Given the description of an element on the screen output the (x, y) to click on. 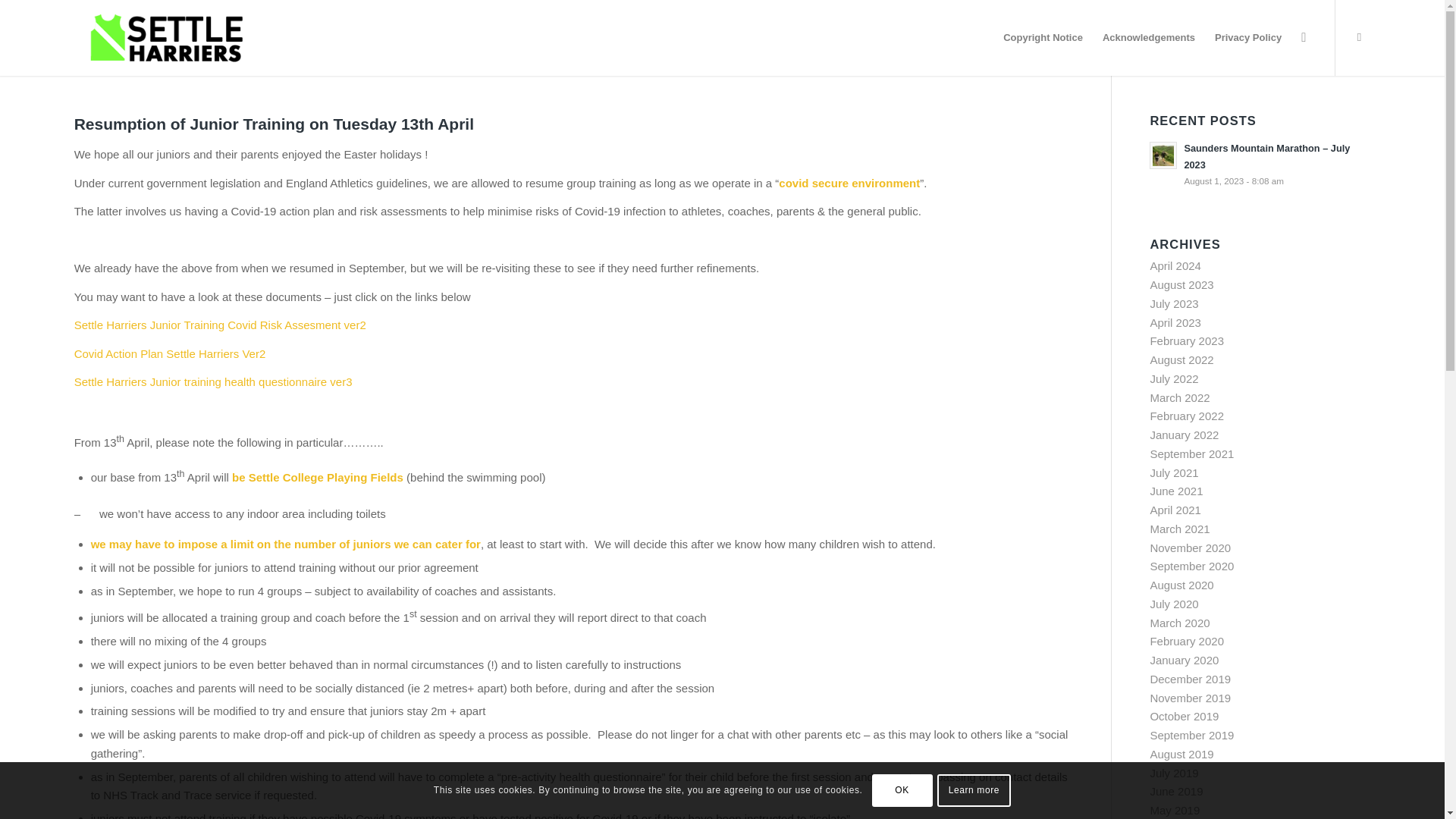
July 2021 (1174, 472)
March 2020 (1179, 622)
September 2021 (1191, 453)
Covid Action Plan Settle Harriers Ver2 (170, 353)
Facebook (1359, 36)
August 2023 (1181, 284)
Acknowledgements (1149, 38)
Settle Harriers Junior training health questionnaire ver3 (213, 381)
August 2019 (1181, 753)
March 2022 (1179, 397)
